Given the description of an element on the screen output the (x, y) to click on. 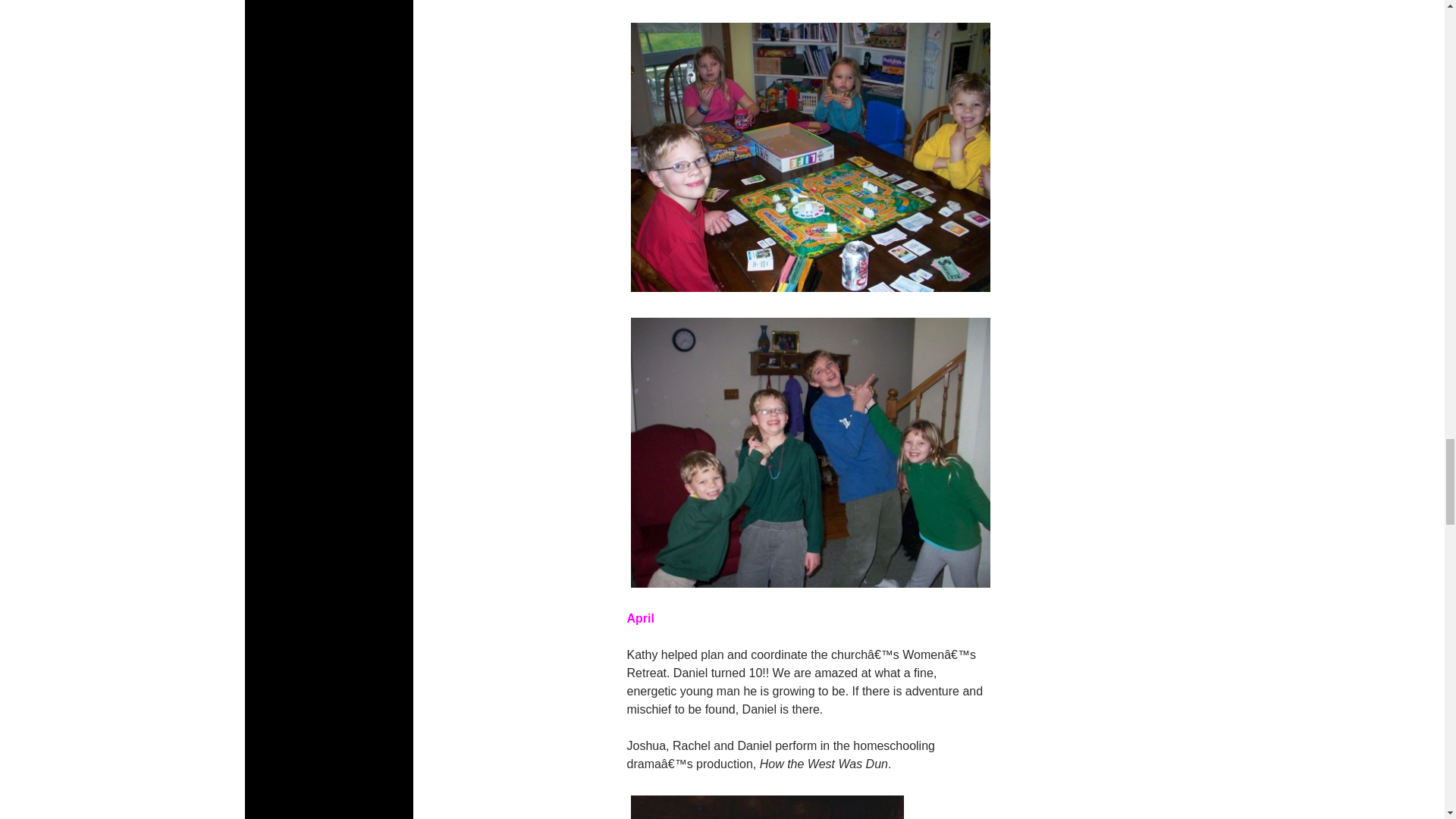
poke war (809, 452)
games (809, 156)
Lone Stranger (766, 805)
